Given the description of an element on the screen output the (x, y) to click on. 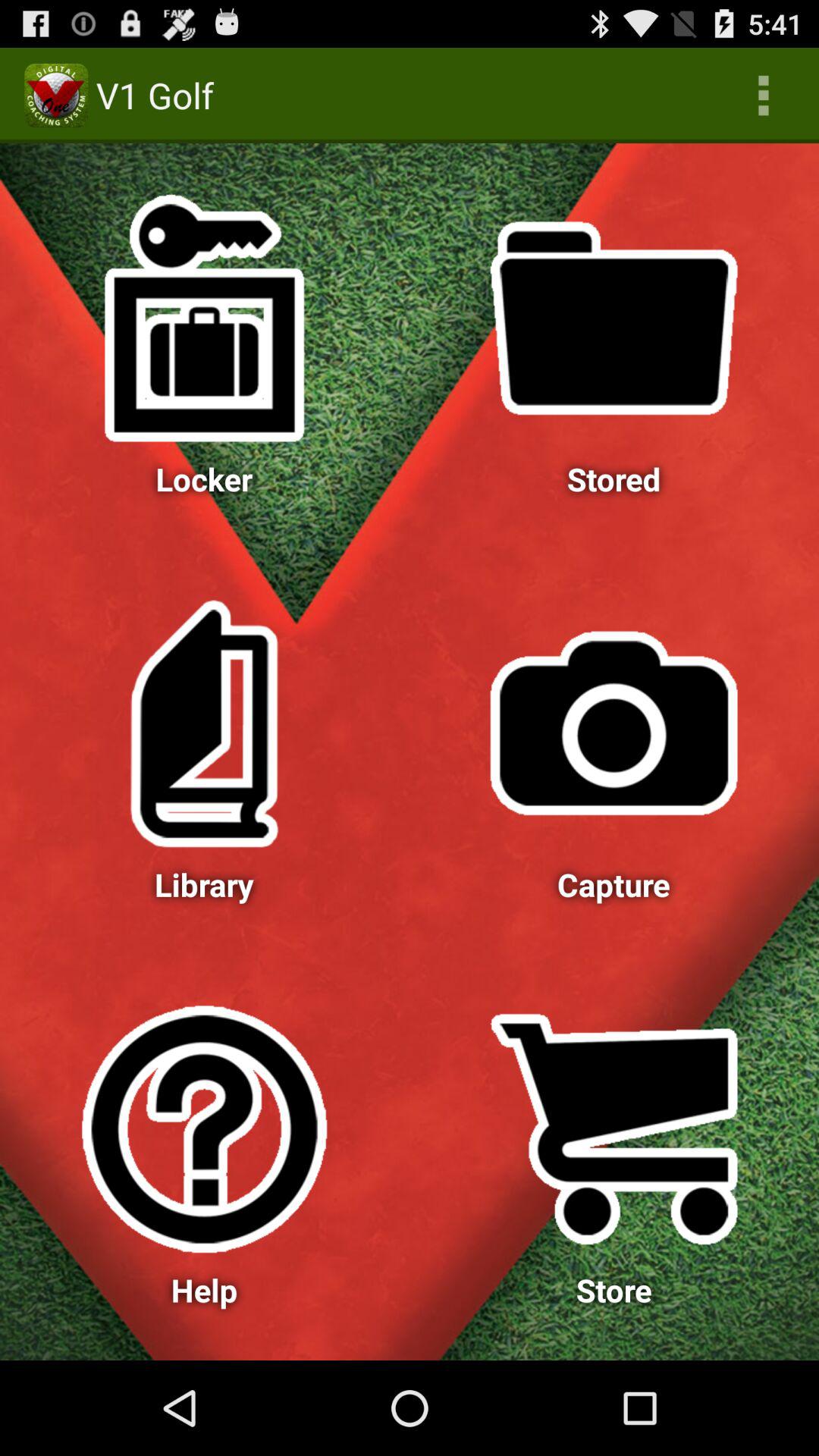
open app to the right of v1 golf (763, 95)
